Given the description of an element on the screen output the (x, y) to click on. 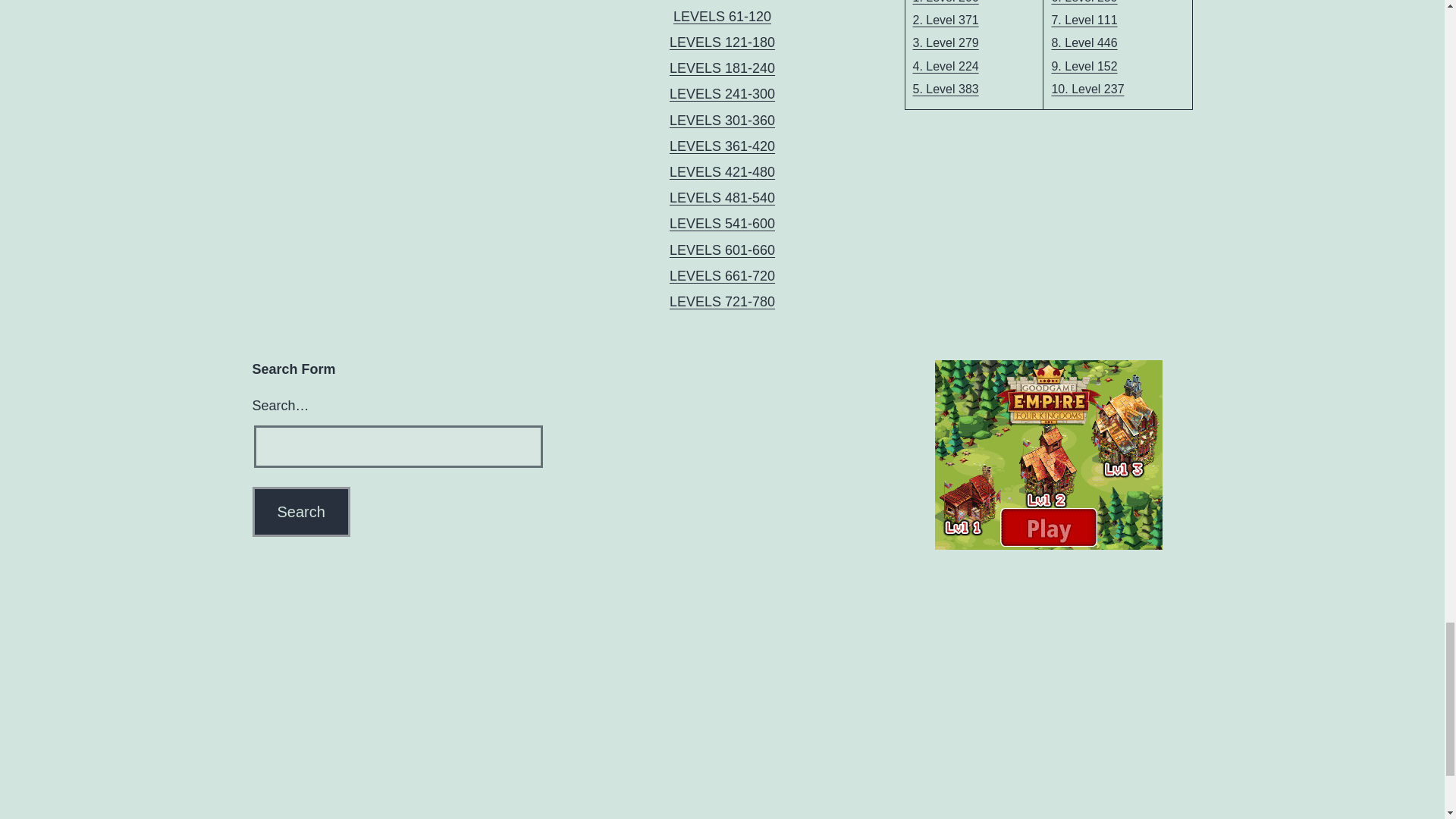
Search (300, 511)
LEVELS 361-420 (721, 145)
LEVELS 421-480 (721, 171)
LEVELS 481-540 (721, 197)
LEVELS 301-360 (721, 120)
LEVELS 121-180 (721, 42)
LEVELS 241-300 (721, 93)
LEVELS 181-240 (721, 68)
LEVELS 61-120 (721, 16)
Search (300, 511)
